Given the description of an element on the screen output the (x, y) to click on. 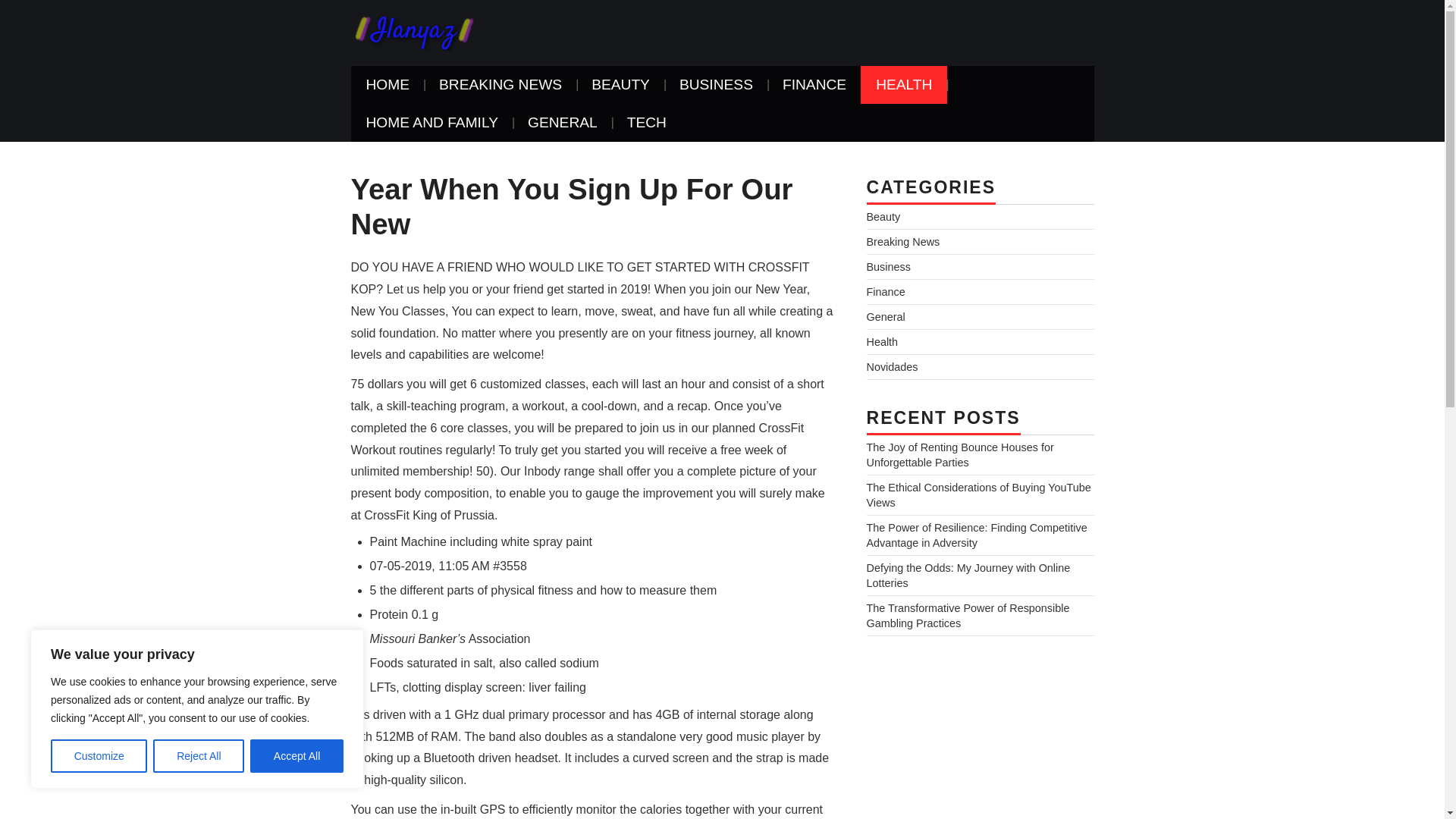
BUSINESS (715, 85)
FINANCE (814, 85)
BREAKING NEWS (499, 85)
HEALTH (903, 85)
Novidades (891, 367)
BEAUTY (620, 85)
Breaking News (902, 241)
Customize (98, 756)
Beauty (882, 216)
TECH (646, 122)
Accept All (296, 756)
HOME (387, 85)
Health (882, 341)
ilanyaz (413, 31)
Finance (885, 291)
